Given the description of an element on the screen output the (x, y) to click on. 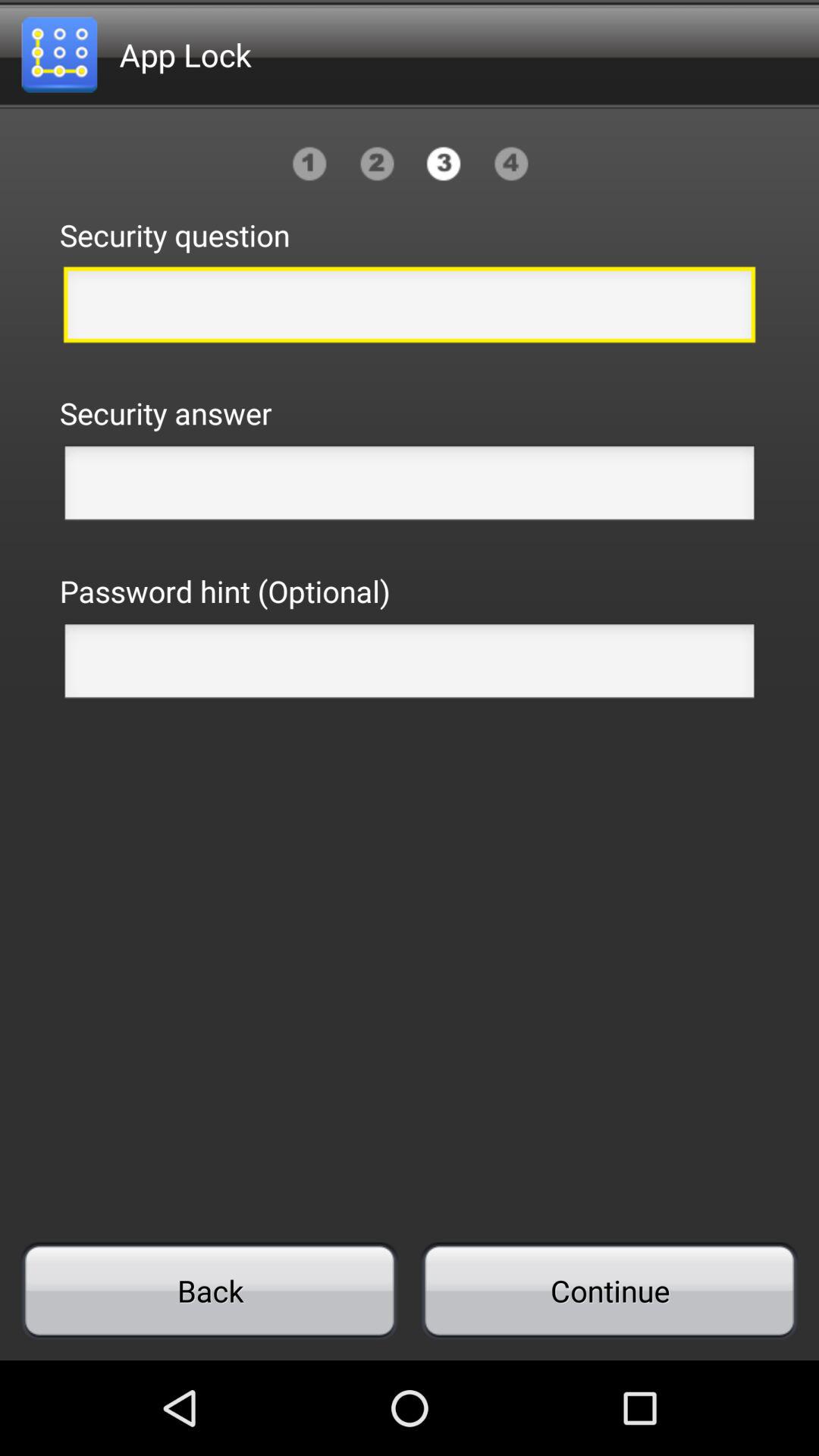
press item next to the back (609, 1290)
